Given the description of an element on the screen output the (x, y) to click on. 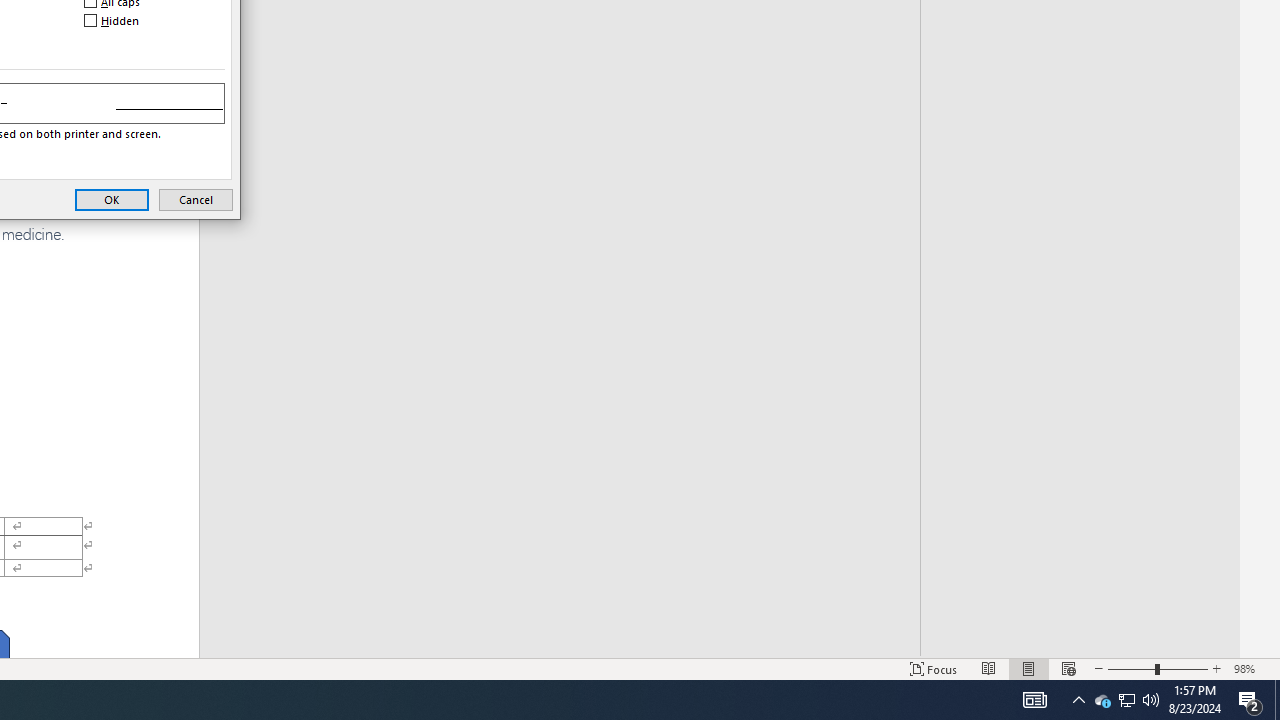
Print Layout (1028, 668)
Web Layout (1069, 668)
AutomationID: 4105 (1102, 699)
OK (1034, 699)
Zoom In (111, 199)
Hidden (1217, 668)
Zoom (113, 20)
Notification Chevron (1126, 699)
User Promoted Notification Area (1158, 668)
Show desktop (1078, 699)
Focus  (1126, 699)
Read Mode (1277, 699)
